Given the description of an element on the screen output the (x, y) to click on. 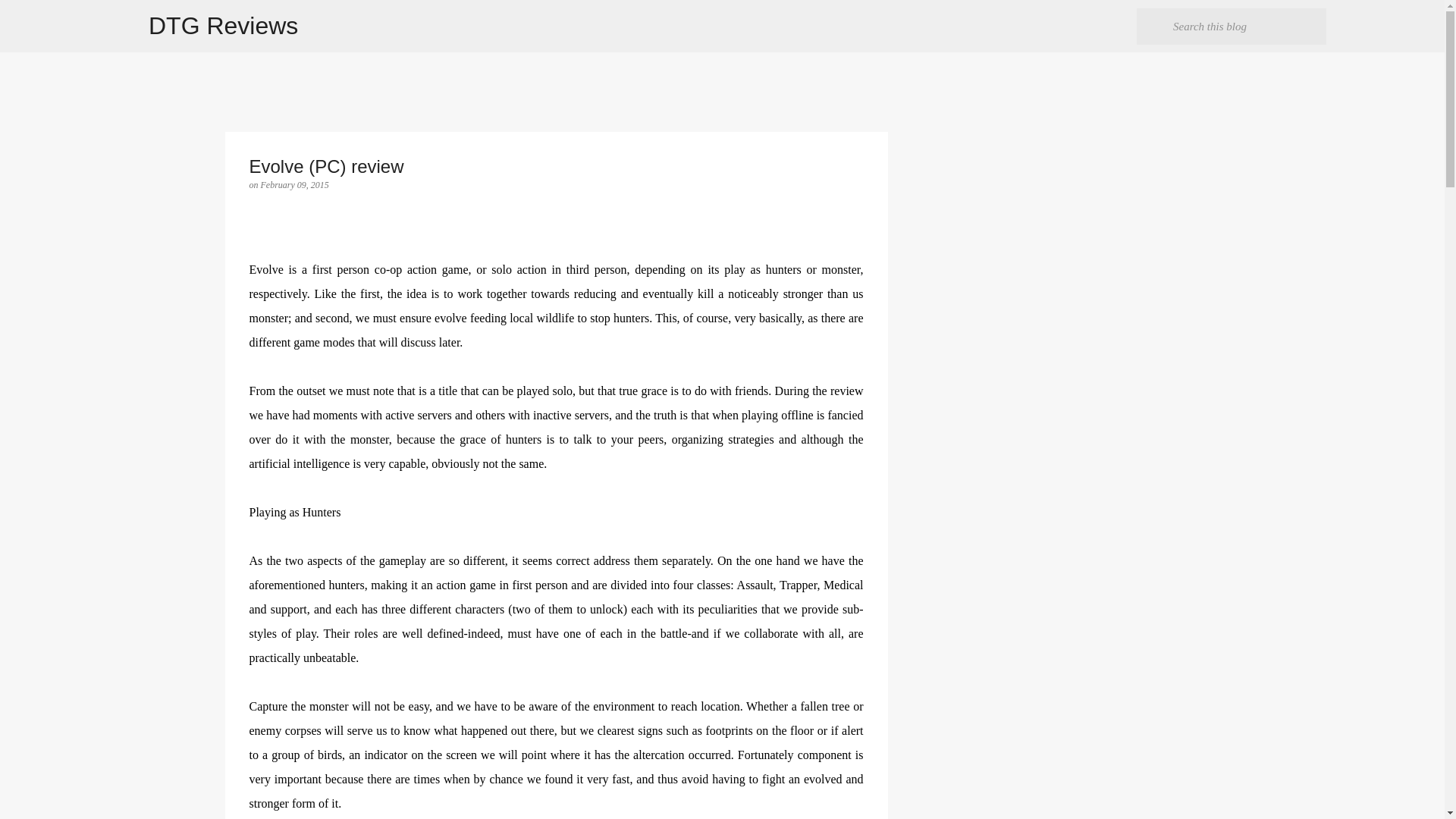
permanent link (294, 184)
DTG Reviews (223, 25)
February 09, 2015 (294, 184)
